Given the description of an element on the screen output the (x, y) to click on. 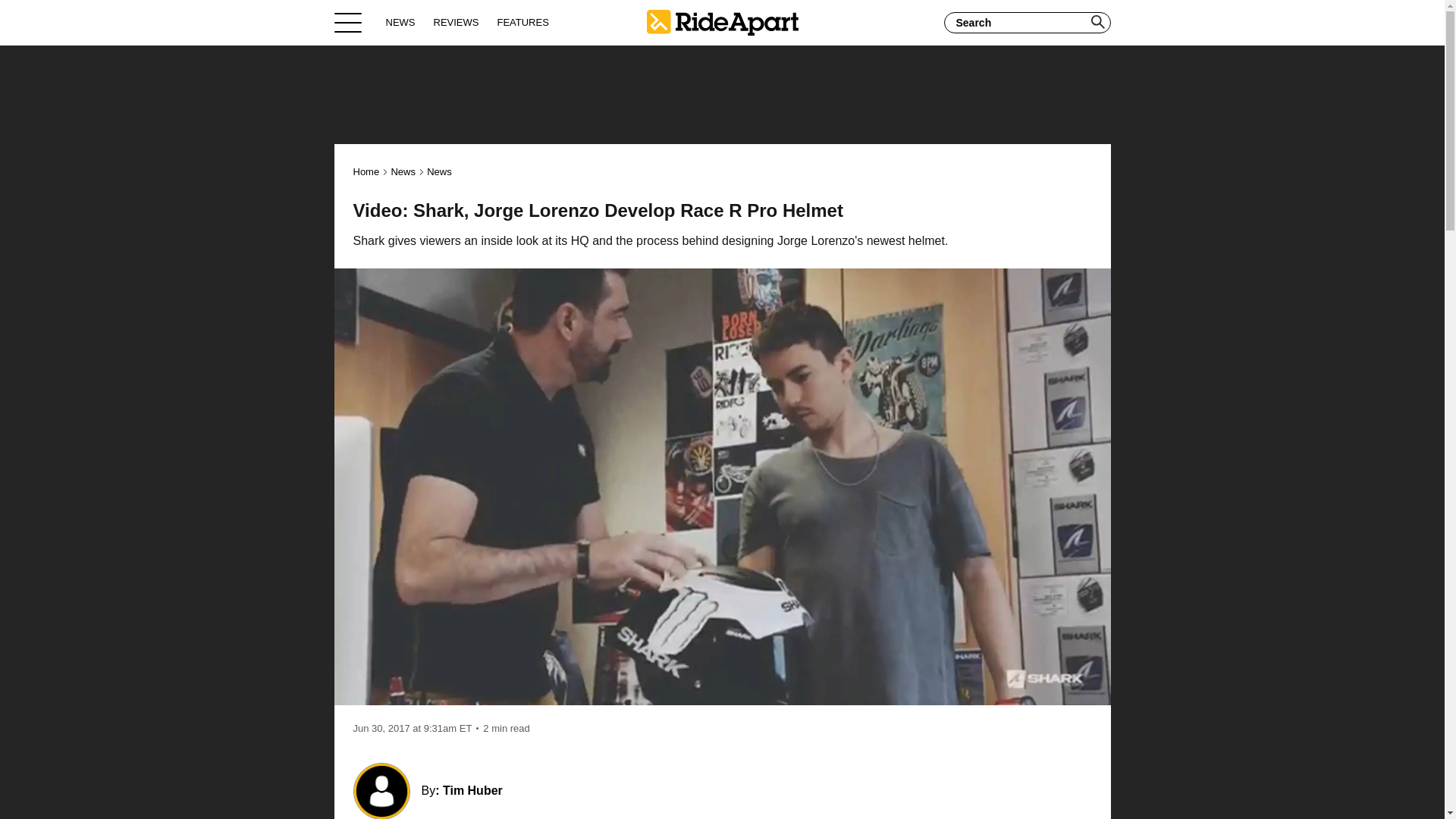
News (438, 171)
NEWS (399, 22)
Home (366, 171)
REVIEWS (456, 22)
Tim Huber (472, 789)
FEATURES (522, 22)
News (402, 171)
Home (721, 22)
